Given the description of an element on the screen output the (x, y) to click on. 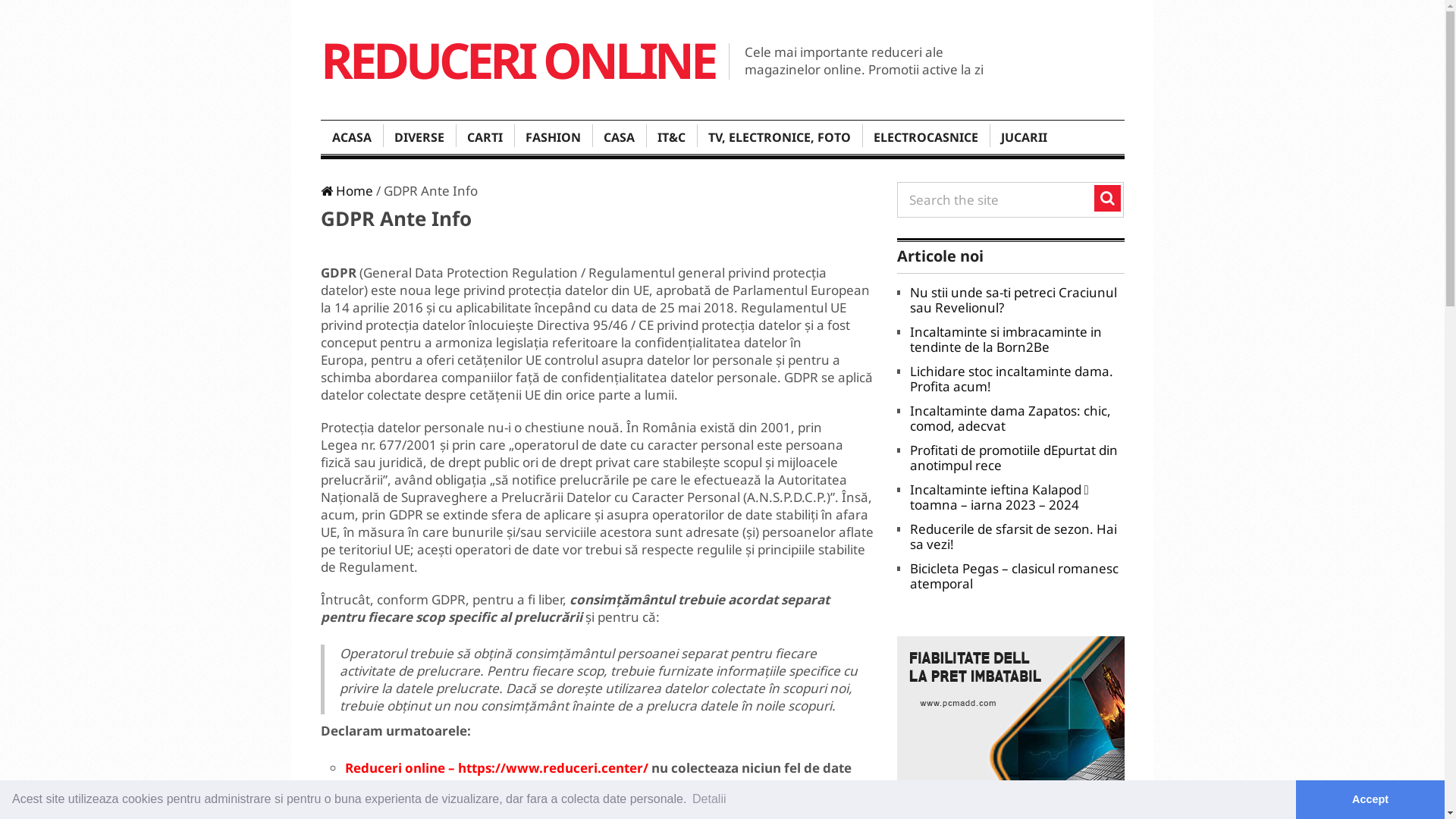
Incaltaminte si imbracaminte in tendinte de la Born2Be Element type: text (1005, 339)
Lichidare stoc incaltaminte dama. Profita acum! Element type: text (1011, 378)
FASHION Element type: text (553, 136)
IT&C Element type: text (671, 136)
TV, ELECTRONICE, FOTO Element type: text (778, 136)
CARTI Element type: text (484, 136)
Profitati de promotiile dEpurtat din anotimpul rece Element type: text (1013, 457)
Incaltaminte dama Zapatos: chic, comod, adecvat Element type: text (1010, 417)
Reducerile de sfarsit de sezon. Hai sa vezi! Element type: text (1013, 536)
Nu stii unde sa-ti petreci Craciunul sau Revelionul? Element type: text (1013, 299)
DIVERSE Element type: text (418, 136)
ELECTROCASNICE Element type: text (924, 136)
ACASA Element type: text (351, 136)
JUCARII Element type: text (1022, 136)
CASA Element type: text (618, 136)
Detalii Element type: text (709, 798)
REDUCERI ONLINE Element type: text (516, 59)
 Home Element type: text (346, 190)
